Given the description of an element on the screen output the (x, y) to click on. 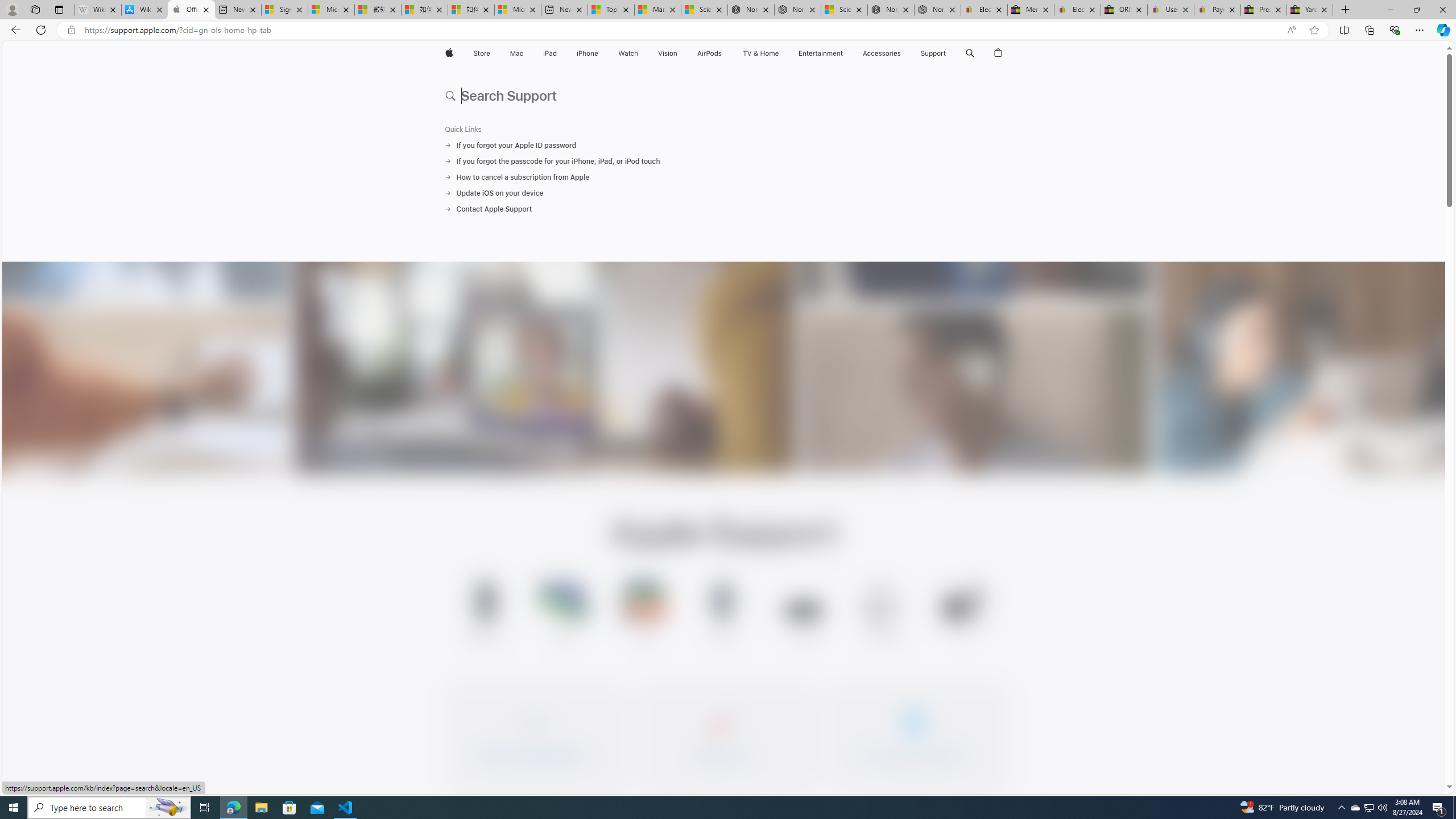
Entertainment menu (844, 53)
If you forgot your Apple ID password (723, 145)
If you forgot your Apple ID password (723, 145)
Nordace - Summer Adventures 2024 (890, 9)
Apple (448, 53)
Vision menu (678, 53)
AirPods (709, 53)
iPad menu (557, 53)
